Given the description of an element on the screen output the (x, y) to click on. 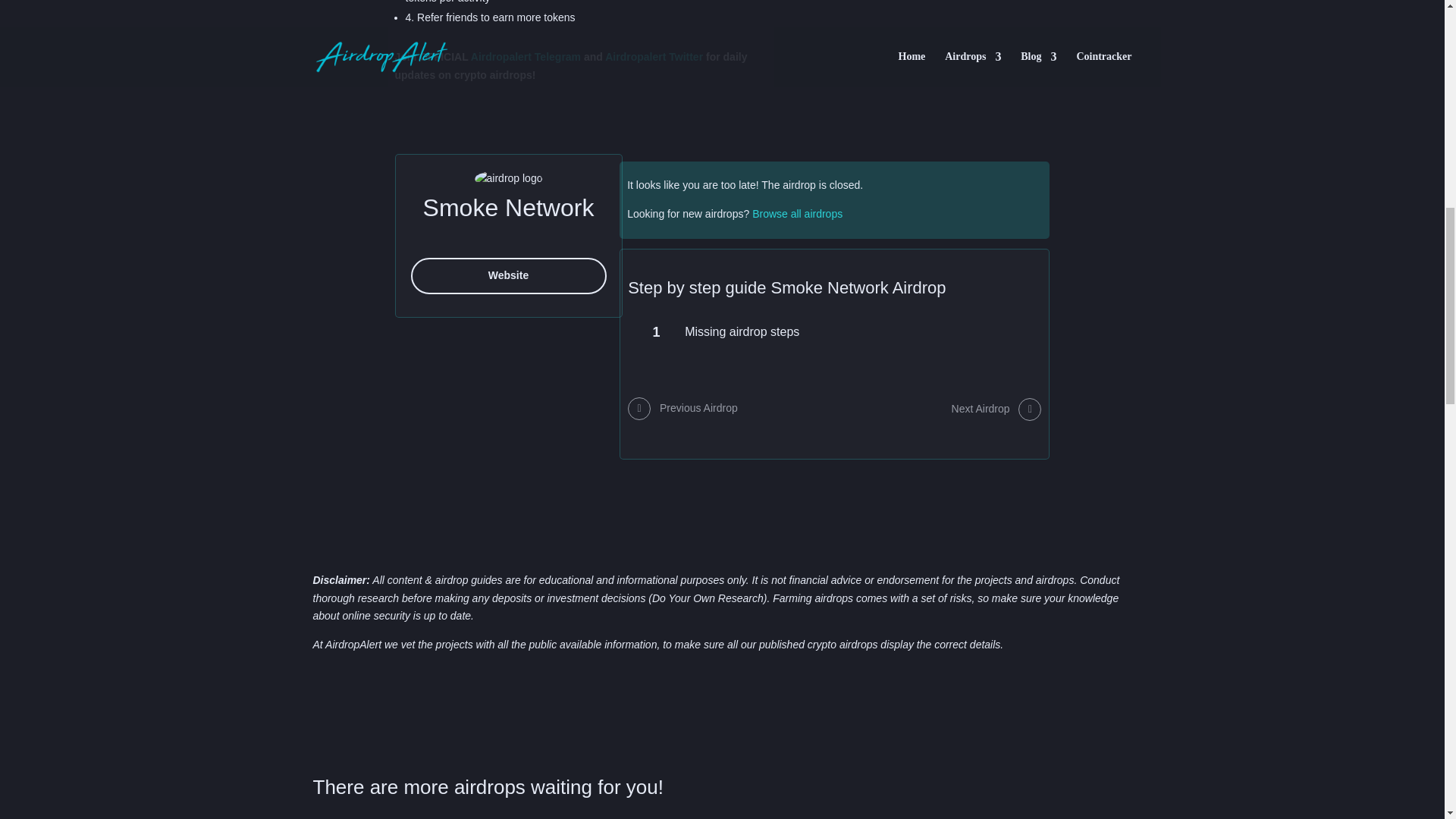
Airdropalert Telegram (525, 56)
Next Airdrop (997, 408)
Previous Airdrop (682, 408)
Website (508, 275)
Airdropalert Twitter (654, 56)
Browse all airdrops (797, 214)
